Given the description of an element on the screen output the (x, y) to click on. 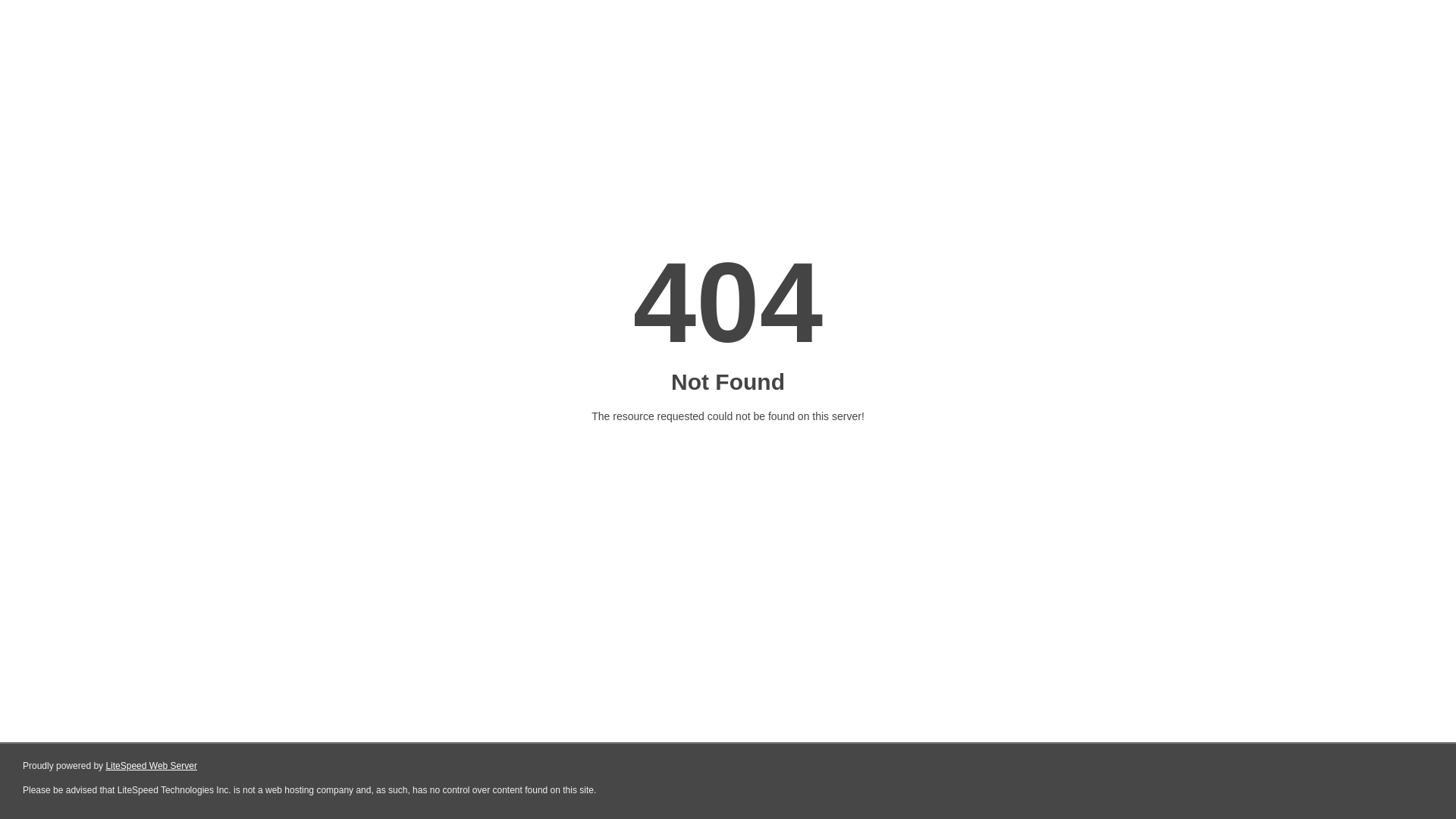
LiteSpeed Web Server Element type: text (151, 765)
